Given the description of an element on the screen output the (x, y) to click on. 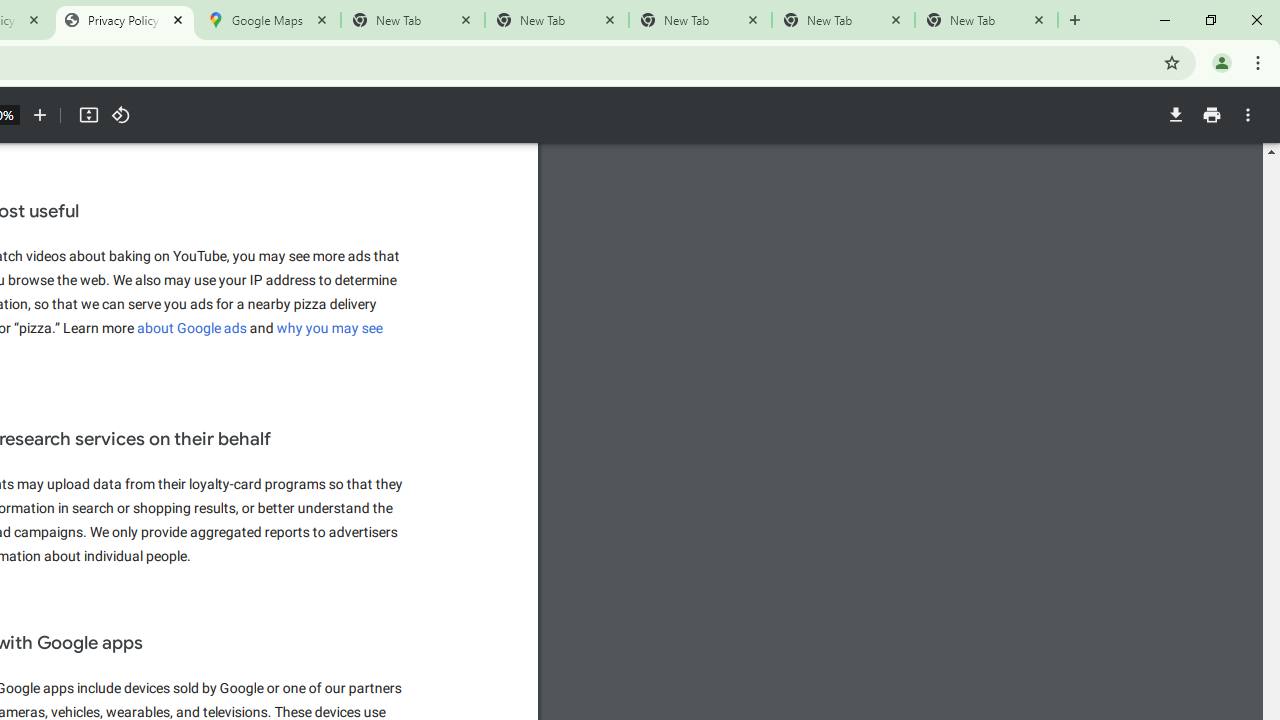
Rotate counterclockwise (119, 115)
New Tab (986, 20)
